Given the description of an element on the screen output the (x, y) to click on. 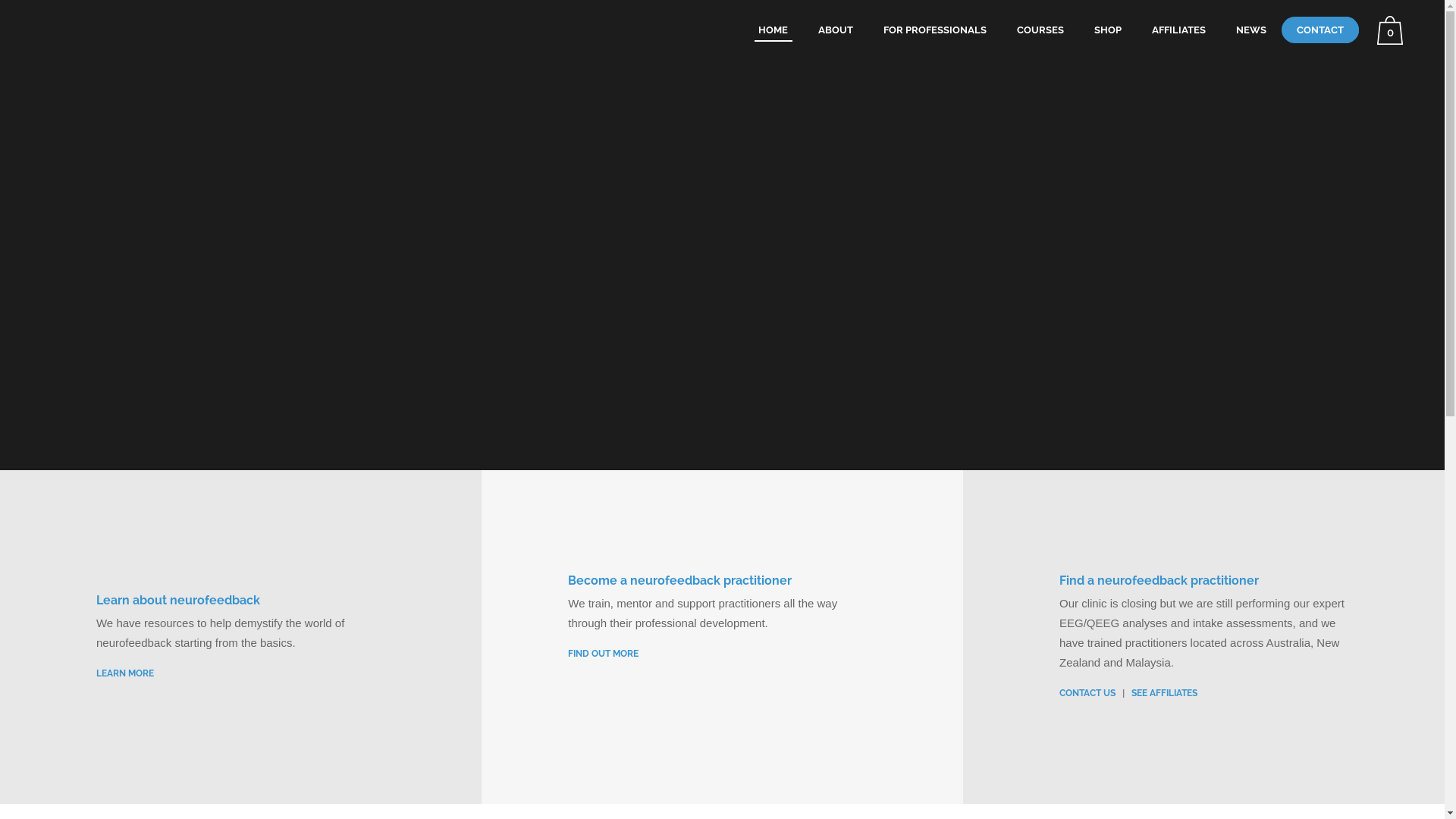
FOR PROFESSIONALS Element type: text (934, 30)
SEE AFFILIATES Element type: text (1164, 692)
HOME Element type: text (773, 30)
COURSES Element type: text (1040, 30)
CONTACT Element type: text (1319, 30)
NEWS Element type: text (1250, 30)
FIND OUT MORE Element type: text (602, 653)
0 Element type: text (1393, 29)
SHOP Element type: text (1107, 30)
CONTACT US Element type: text (1087, 692)
AFFILIATES Element type: text (1178, 30)
LEARN MORE Element type: text (124, 673)
ABOUT Element type: text (835, 30)
